Given the description of an element on the screen output the (x, y) to click on. 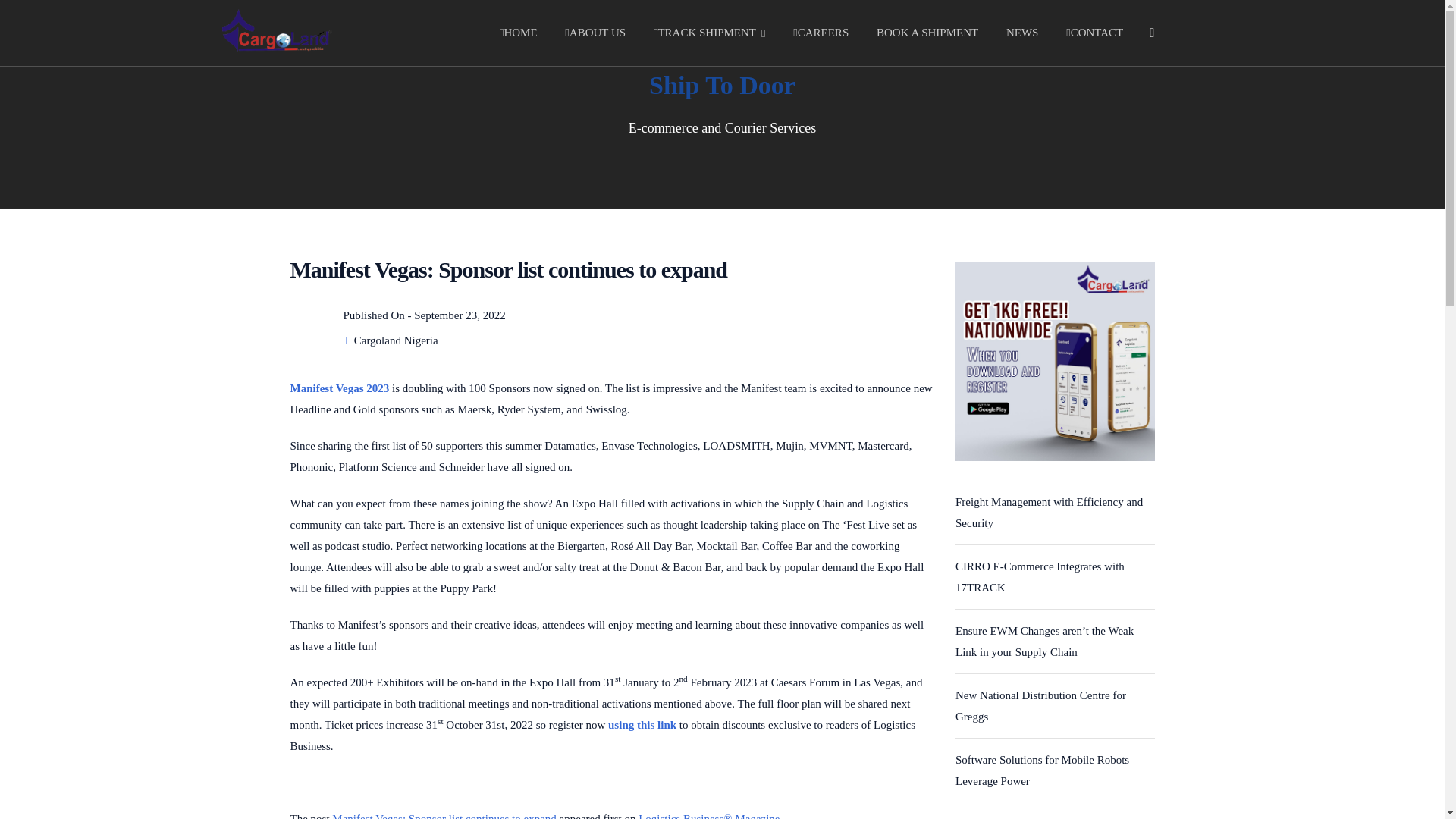
NEWS (1022, 33)
using this link (642, 725)
CAREERS (820, 33)
CONTACT (1093, 33)
ABOUT US (595, 33)
September 23, 2022 (459, 315)
Manifest Vegas 2023 (340, 387)
BOOK A SHIPMENT (927, 33)
TRACK SHIPMENT (709, 33)
Manifest Vegas: Sponsor list continues to expand (443, 816)
HOME (518, 33)
Cargoland Nigeria (395, 340)
